Given the description of an element on the screen output the (x, y) to click on. 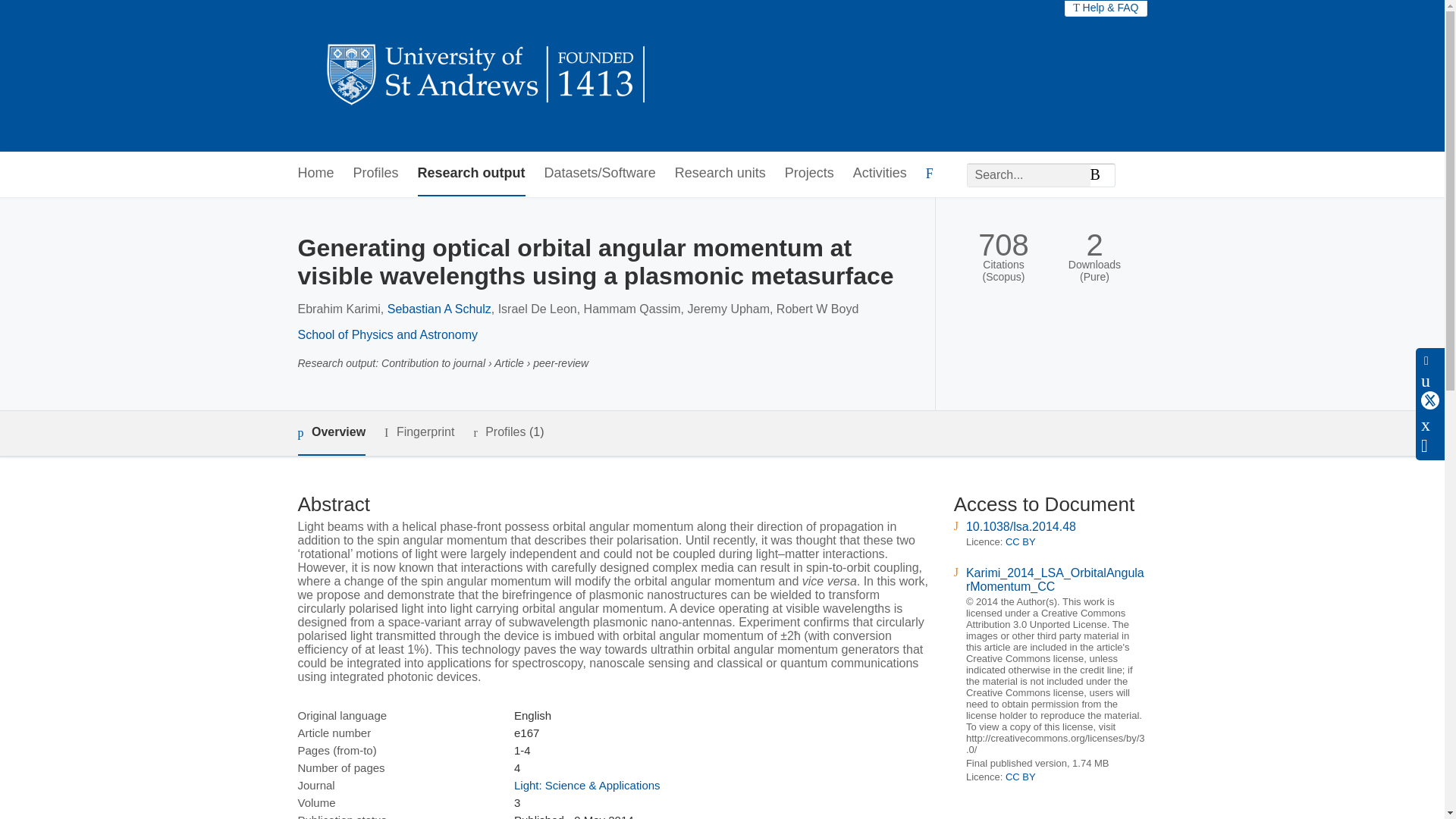
CC BY (1020, 541)
CC BY (1020, 776)
Research output (471, 173)
Projects (809, 173)
School of Physics and Astronomy (387, 334)
Profiles (375, 173)
Fingerprint (419, 432)
Overview (331, 433)
Sebastian A Schulz (439, 308)
Activities (880, 173)
Research units (720, 173)
University of St Andrews Research Portal Home (487, 75)
